Given the description of an element on the screen output the (x, y) to click on. 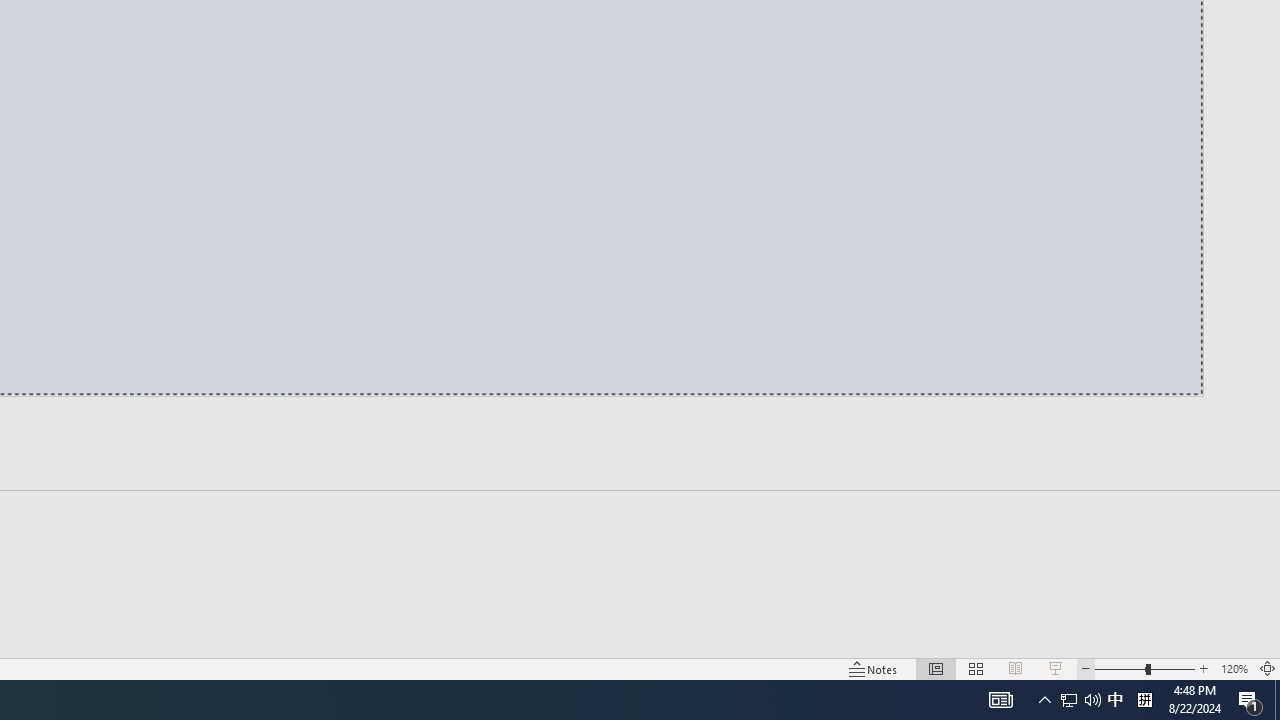
Zoom 120% (1234, 668)
